Given the description of an element on the screen output the (x, y) to click on. 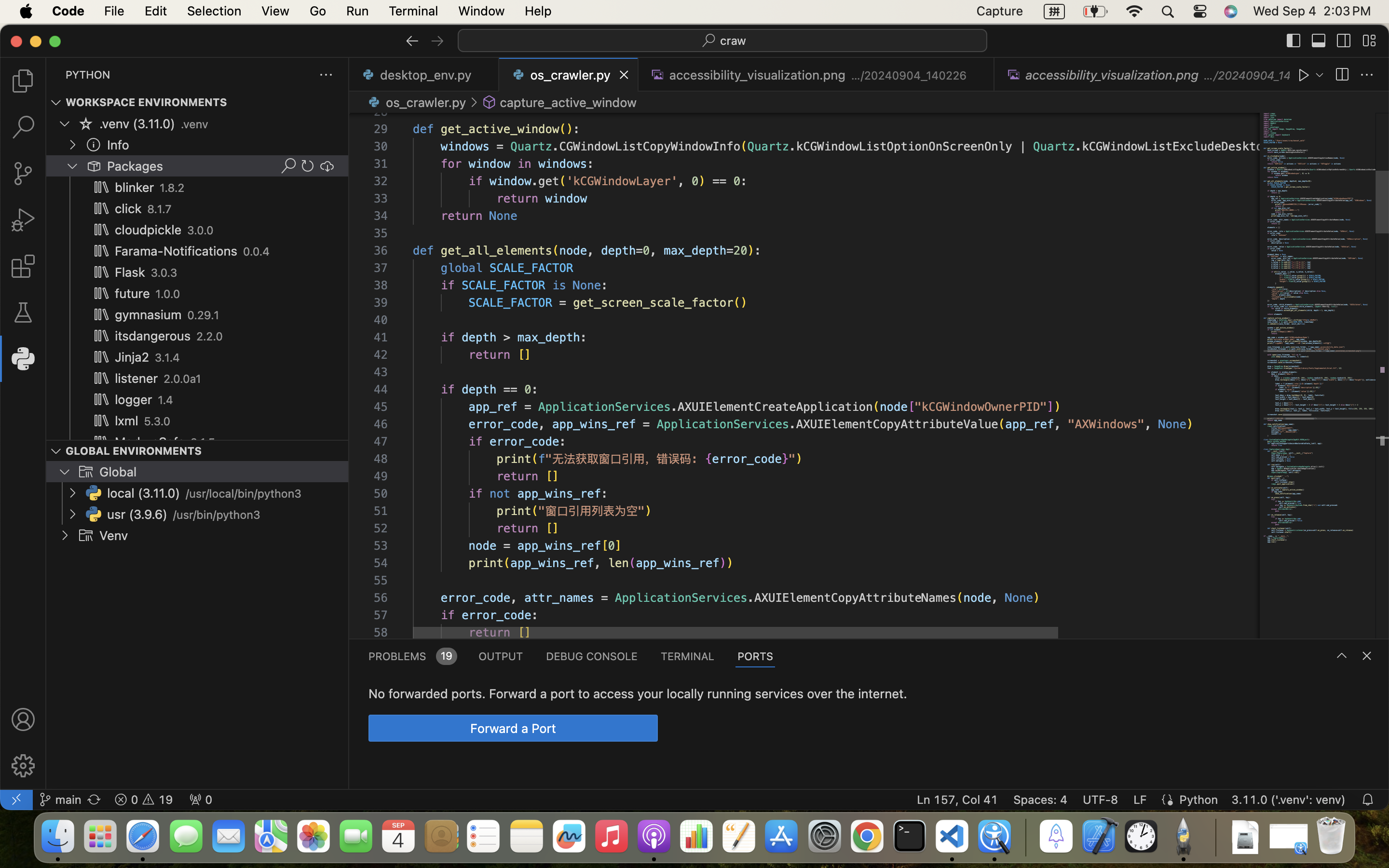
 Element type: AXStaticText (85, 123)
 Element type: AXStaticText (22, 719)
.venv Element type: AXStaticText (194, 124)
 Element type: AXCheckBox (1344, 40)
 Element type: AXStaticText (93, 144)
